Given the description of an element on the screen output the (x, y) to click on. 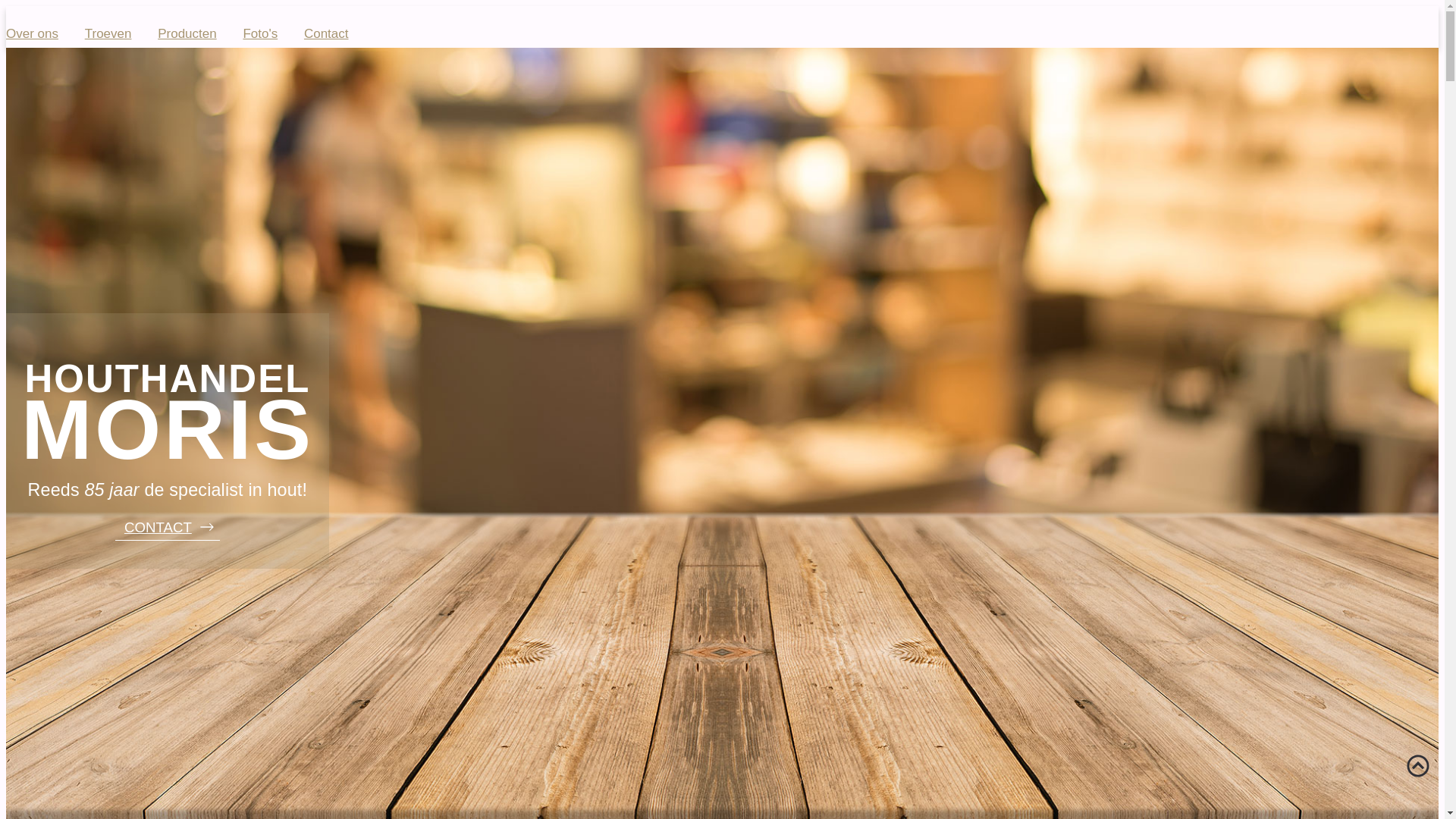
Over ons Element type: text (32, 33)
Contact Element type: text (326, 33)
Troeven Element type: text (107, 33)
Producten Element type: text (186, 33)
CONTACT Element type: text (167, 526)
Terug naar boven Element type: hover (1417, 765)
Foto's Element type: text (259, 33)
